Given the description of an element on the screen output the (x, y) to click on. 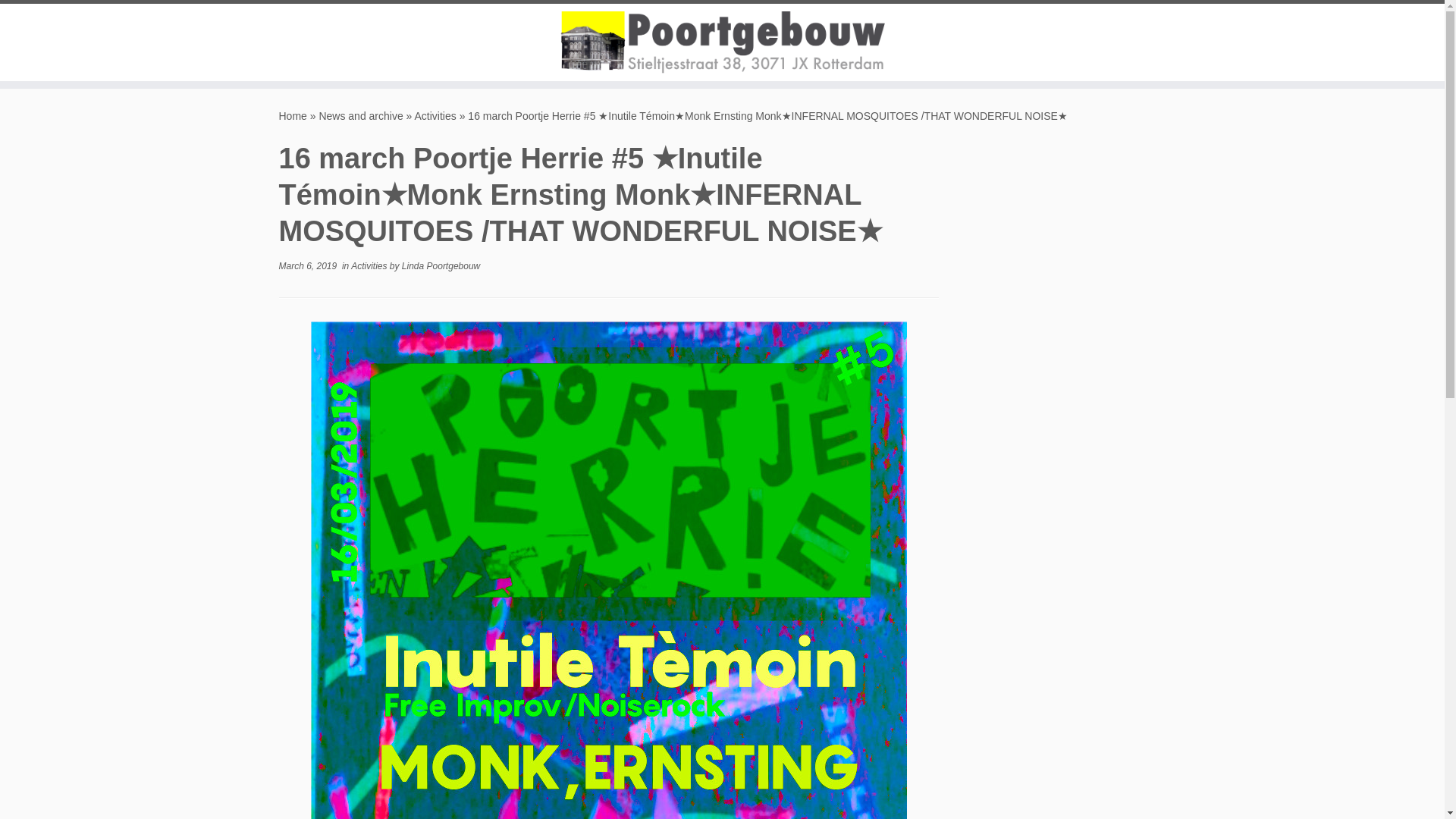
Home (293, 115)
12 h 32 min (308, 266)
March 6, 2019 (308, 266)
News and archive (360, 115)
Activities (370, 266)
Activities (435, 115)
View all posts in Activities (370, 266)
Activities (435, 115)
Linda Poortgebouw (440, 266)
View all posts by Linda Poortgebouw (440, 266)
